Given the description of an element on the screen output the (x, y) to click on. 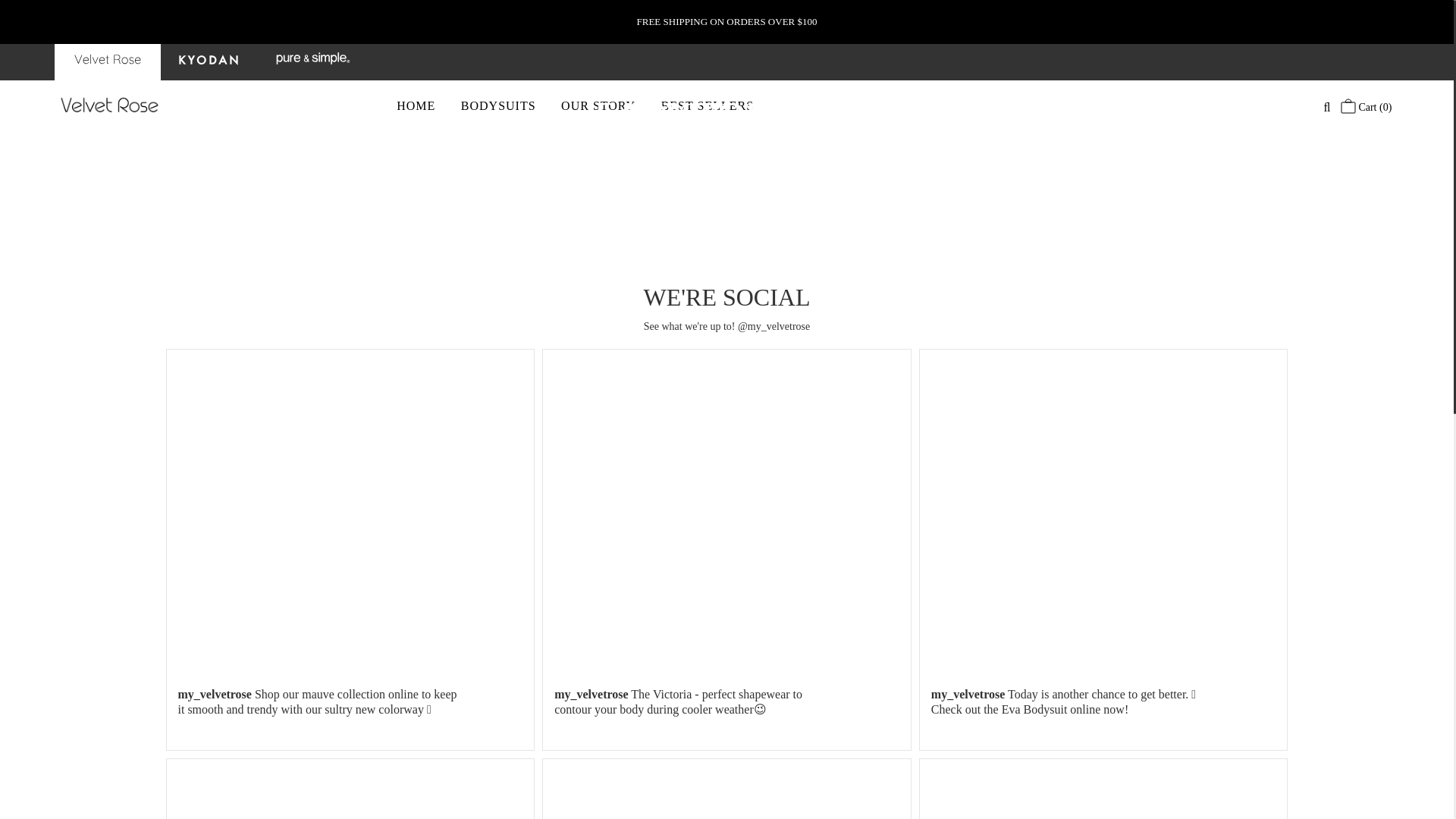
Shop Bestsellers (826, 236)
HOME (415, 105)
Shop Tanks (626, 255)
BEST SELLERS (707, 105)
Shop Longsleeves (626, 236)
BODYSUITS (498, 105)
OUR STORY (598, 105)
Shop Tees (826, 255)
